Given the description of an element on the screen output the (x, y) to click on. 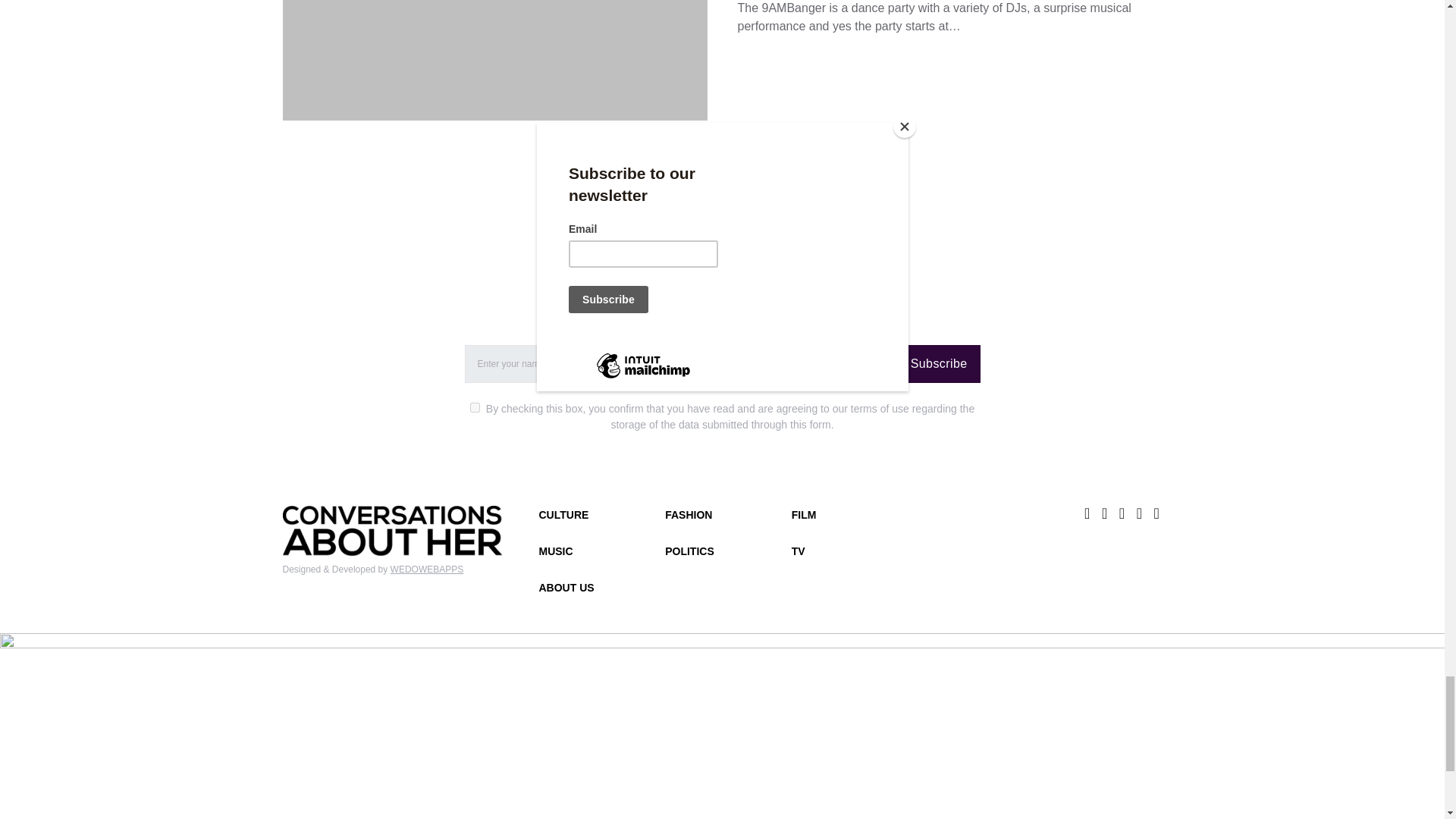
on (475, 407)
